Given the description of an element on the screen output the (x, y) to click on. 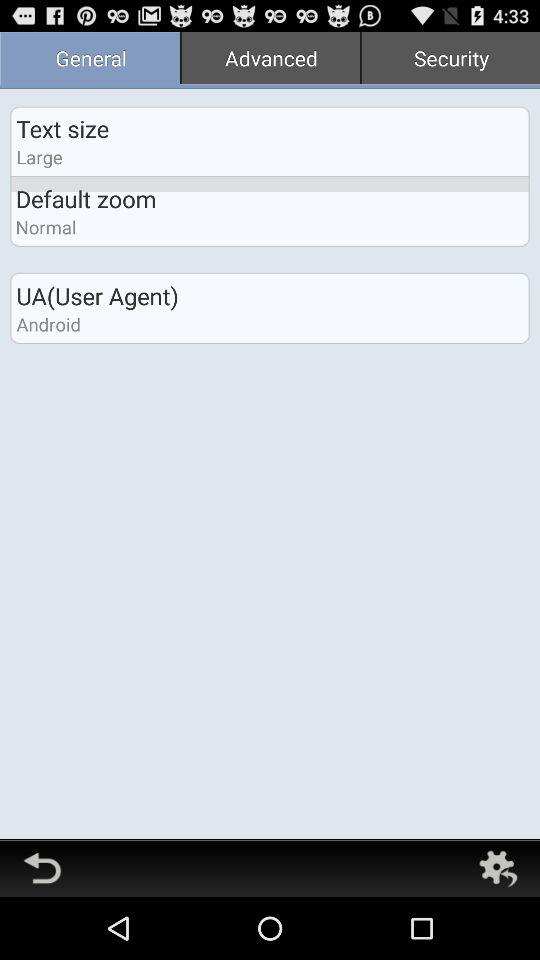
swipe to general item (90, 60)
